Given the description of an element on the screen output the (x, y) to click on. 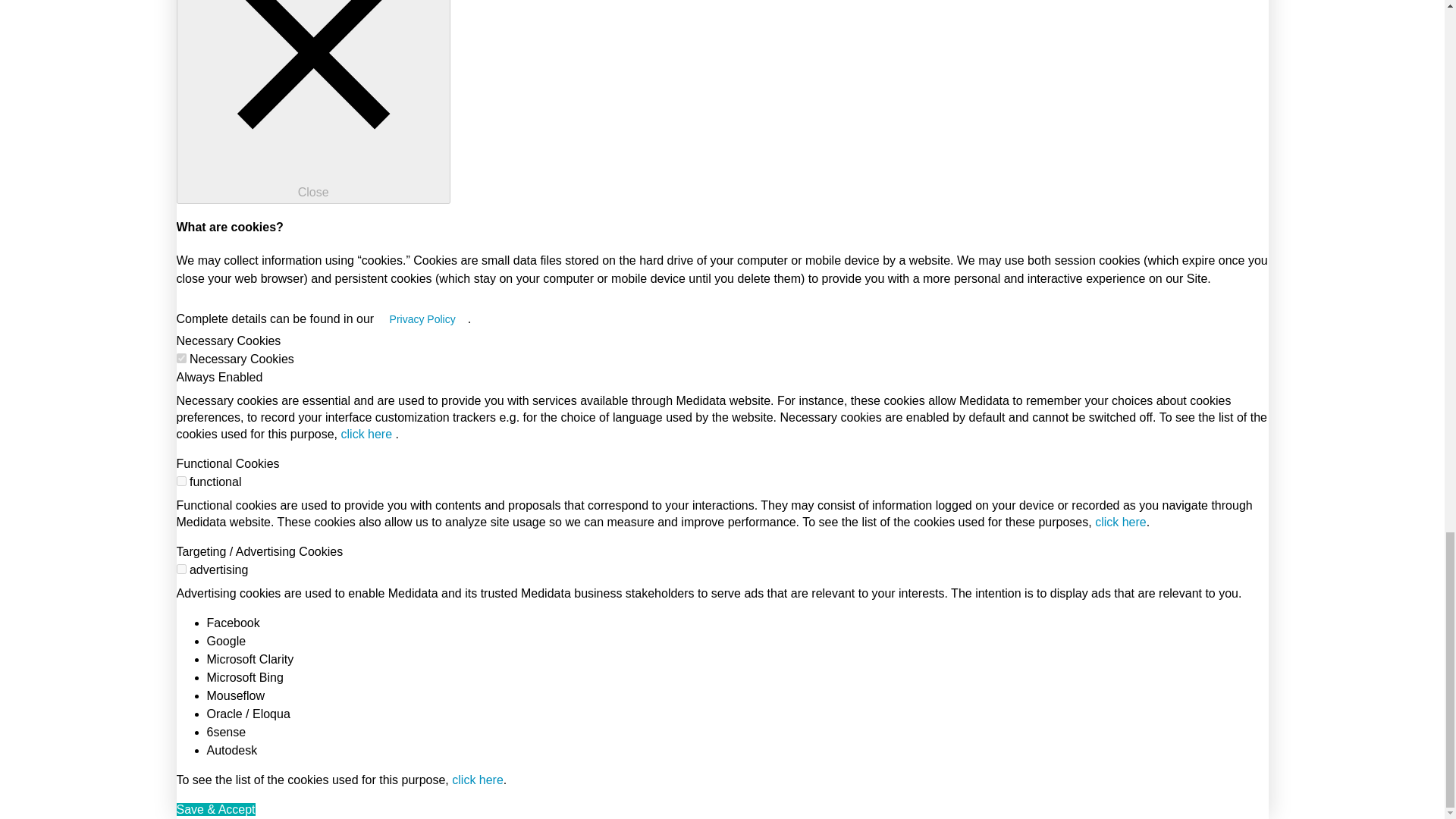
on (181, 357)
on (181, 569)
on (181, 480)
